Given the description of an element on the screen output the (x, y) to click on. 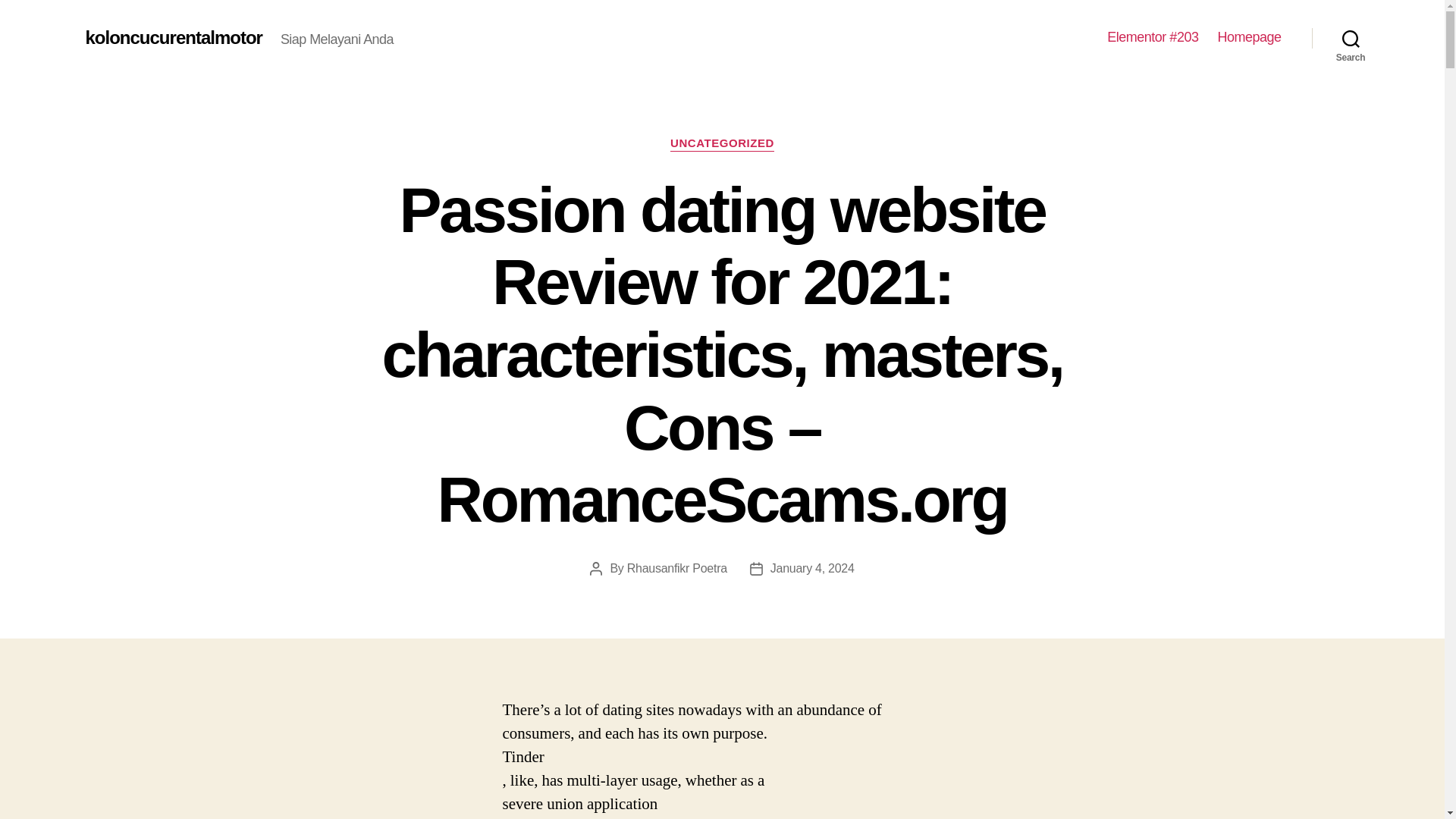
January 4, 2024 (812, 567)
koloncucurentalmotor (173, 37)
Search (1350, 37)
Homepage (1249, 37)
Rhausanfikr Poetra (676, 567)
UNCATEGORIZED (721, 143)
